Given the description of an element on the screen output the (x, y) to click on. 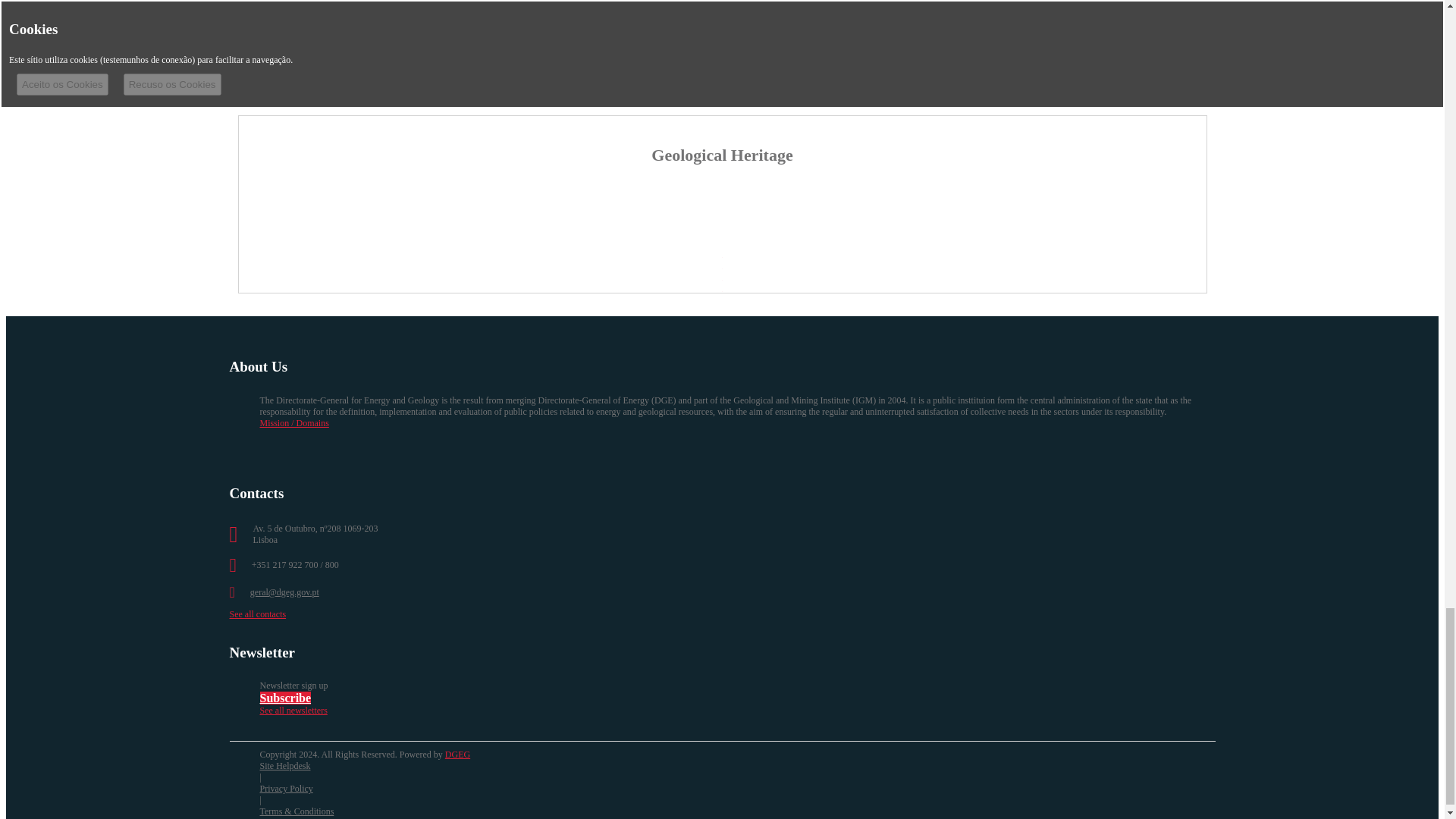
Support page (284, 765)
Terms of use (296, 810)
Privacy Policy (286, 787)
